Given the description of an element on the screen output the (x, y) to click on. 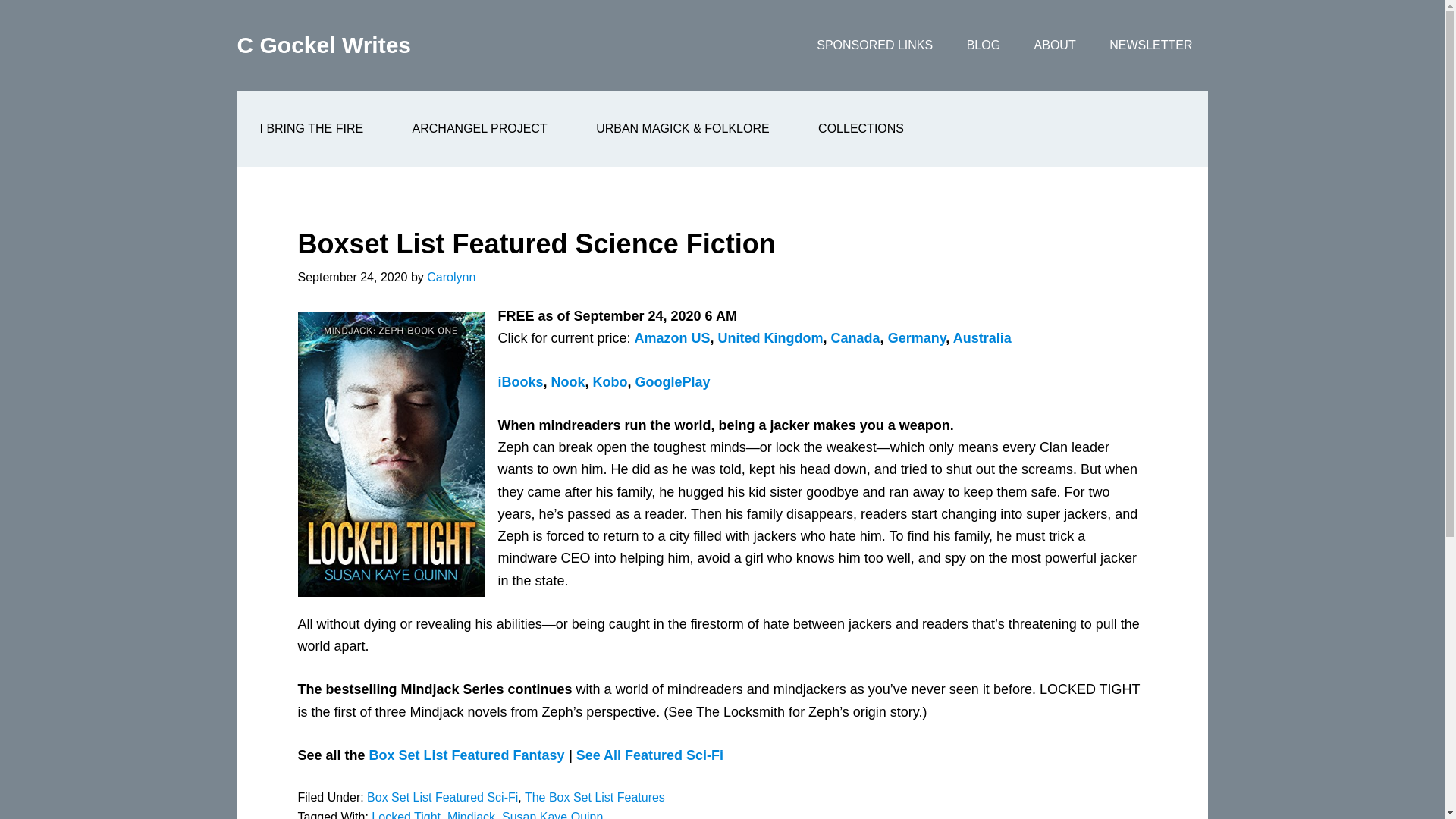
Germany (917, 337)
Susan Kaye Quinn (552, 814)
Kobo (609, 381)
See All Featured Sci-Fi (649, 754)
United Kingdom (770, 337)
Mindjack (470, 814)
Box Set List Featured Sci-Fi (442, 797)
Carolynn (451, 277)
Box Set List Featured Fantasy (466, 754)
NEWSLETTER (1150, 45)
C Gockel Writes (322, 44)
The Box Set List Features (594, 797)
SPONSORED LINKS (874, 45)
Canada (855, 337)
Australia (982, 337)
